Given the description of an element on the screen output the (x, y) to click on. 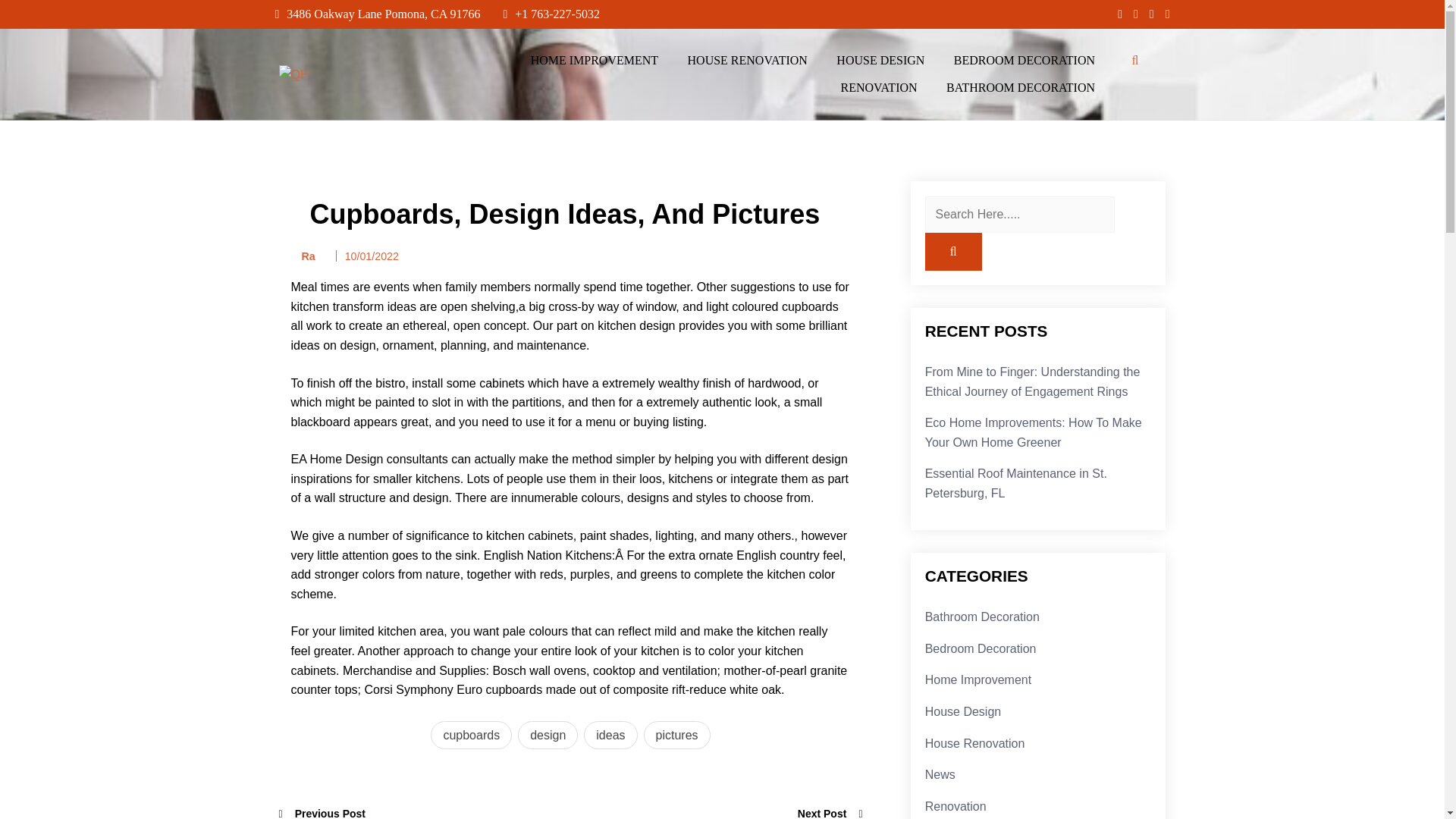
Previous Post (322, 812)
QH (290, 96)
RENOVATION (879, 87)
HOME IMPROVEMENT (594, 60)
Ra (303, 256)
Next Post (830, 812)
cupboards (471, 735)
pictures (676, 735)
BEDROOM DECORATION (1024, 60)
HOUSE DESIGN (880, 60)
design (548, 735)
ideas (610, 735)
HOUSE RENOVATION (748, 60)
BATHROOM DECORATION (1020, 87)
